Given the description of an element on the screen output the (x, y) to click on. 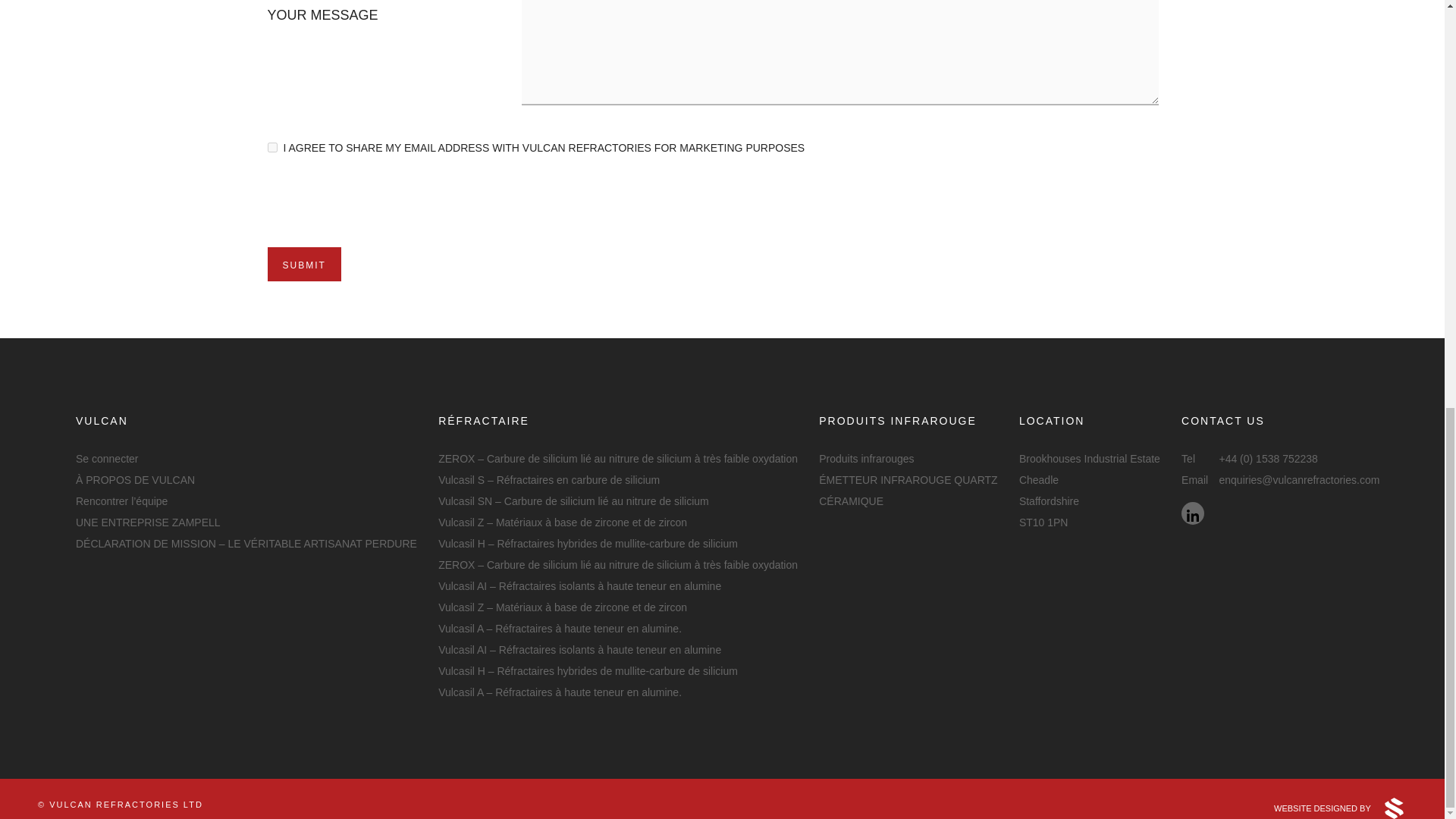
Connect with us on LinkedIn (1192, 513)
